Given the description of an element on the screen output the (x, y) to click on. 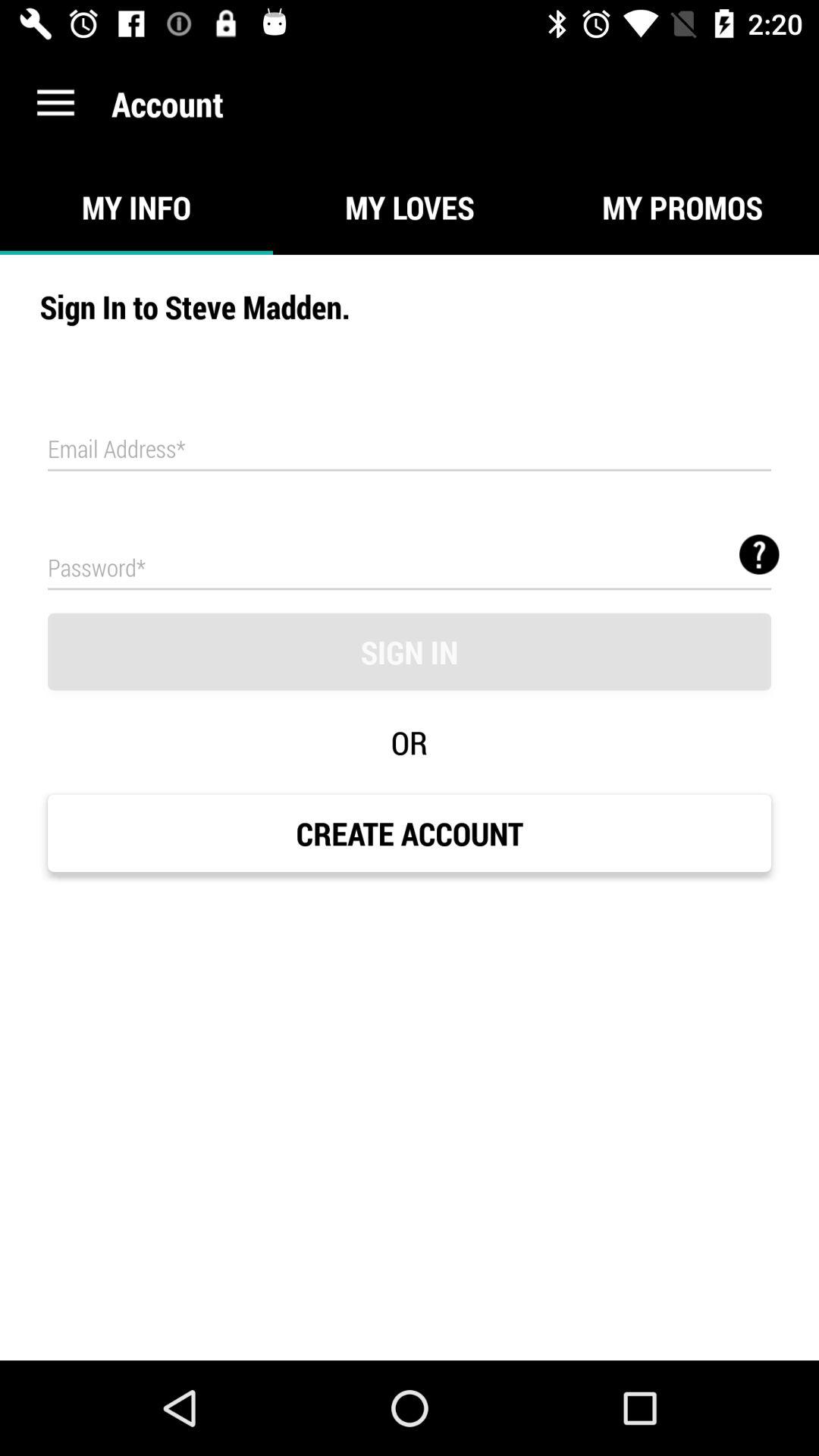
enter password (409, 566)
